Given the description of an element on the screen output the (x, y) to click on. 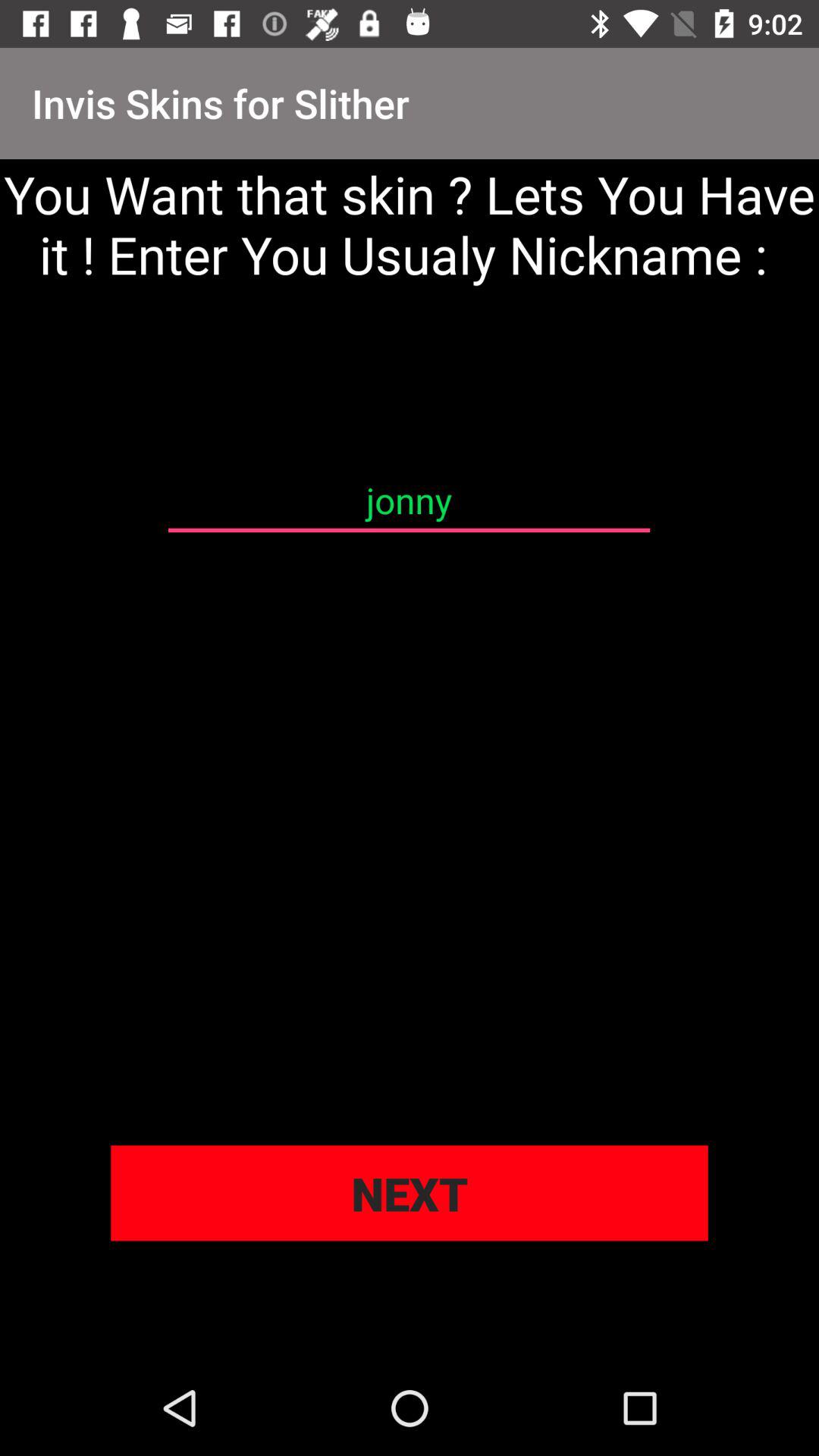
select the item below the jonny (409, 1193)
